Given the description of an element on the screen output the (x, y) to click on. 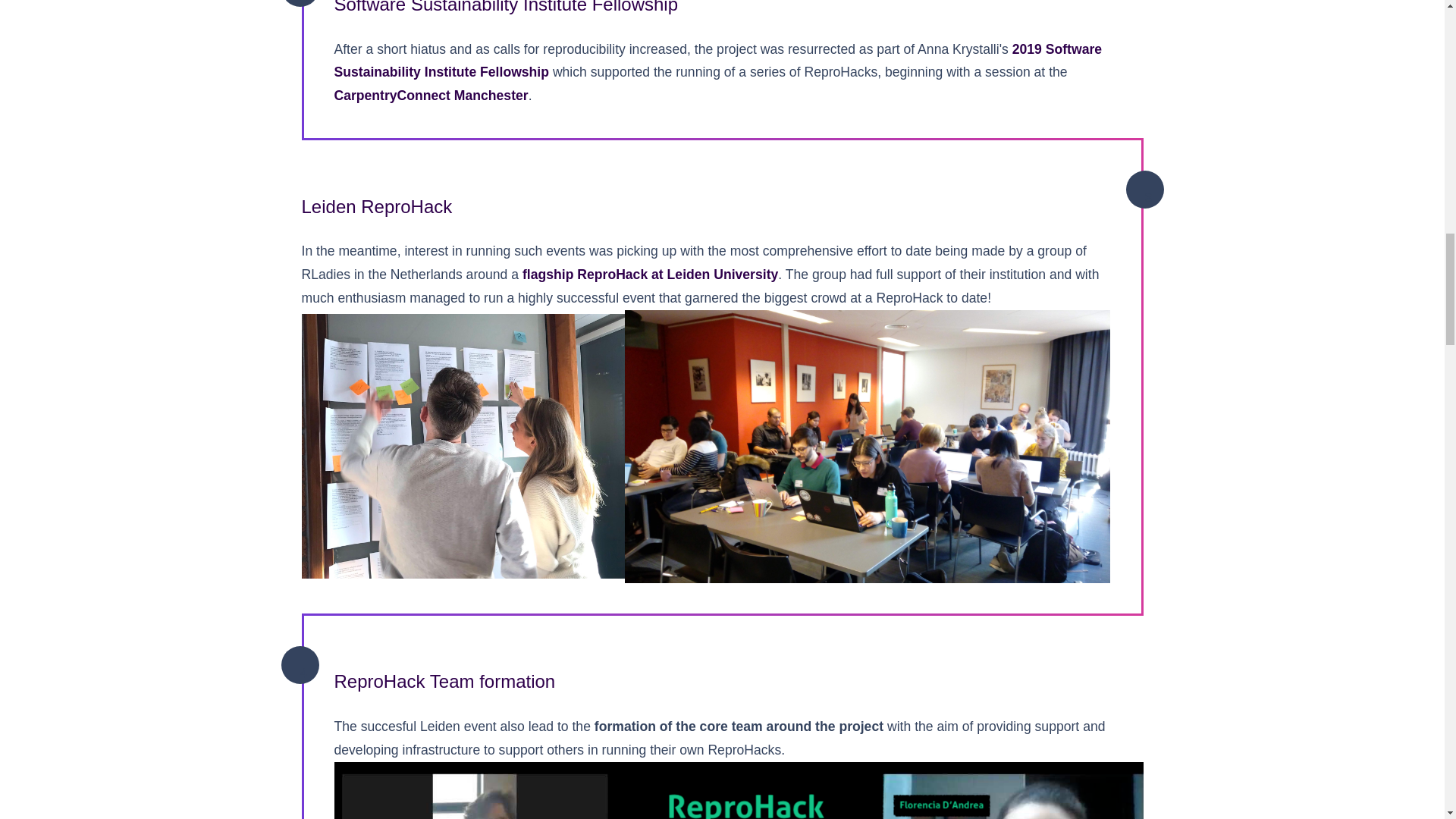
flagship ReproHack at Leiden University (649, 273)
2019 Software Sustainability Institute Fellowship (717, 60)
CarpentryConnect Manchester (430, 95)
